Given the description of an element on the screen output the (x, y) to click on. 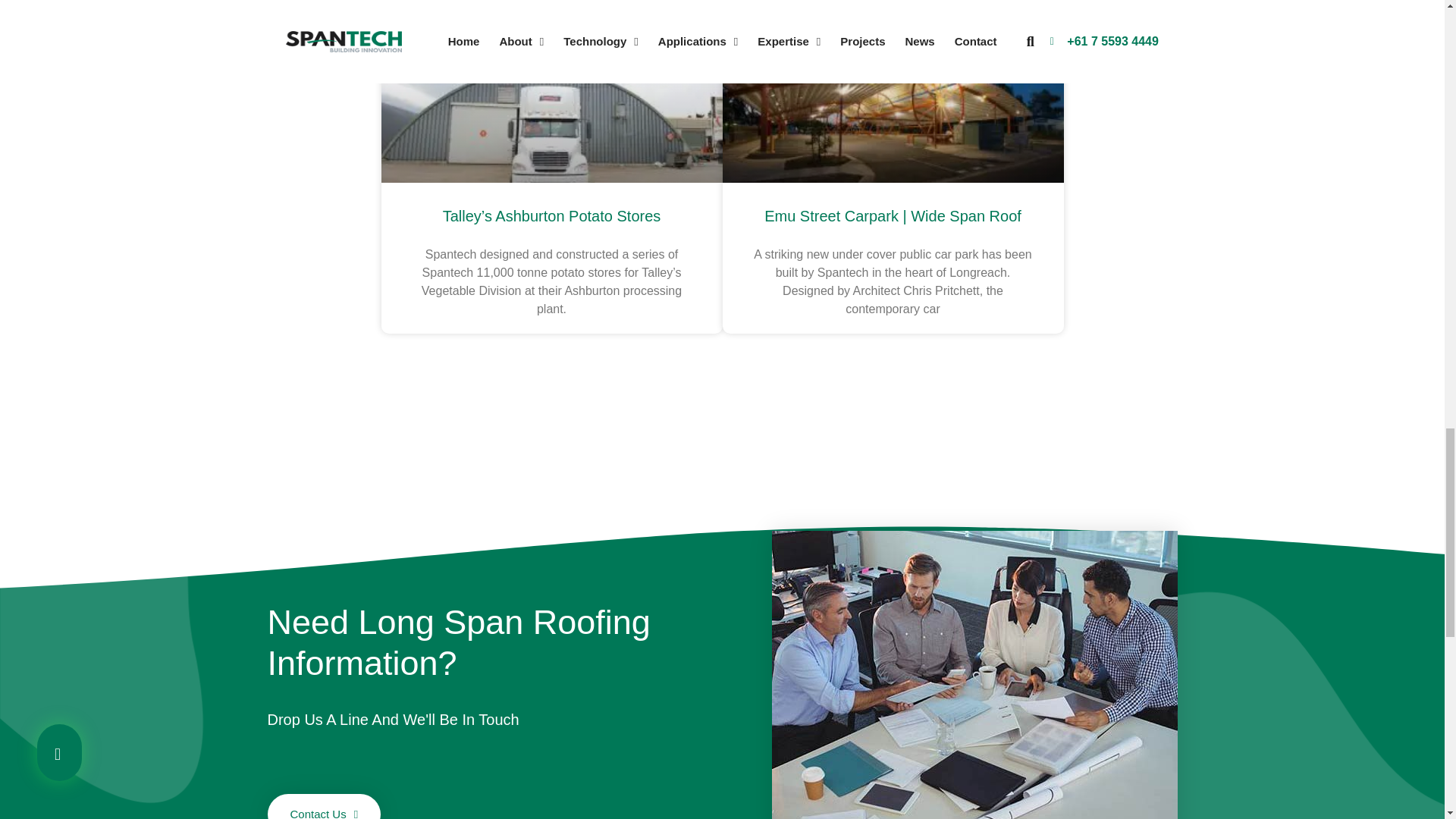
Long-Span-Roofing-Solutions (974, 674)
